Given the description of an element on the screen output the (x, y) to click on. 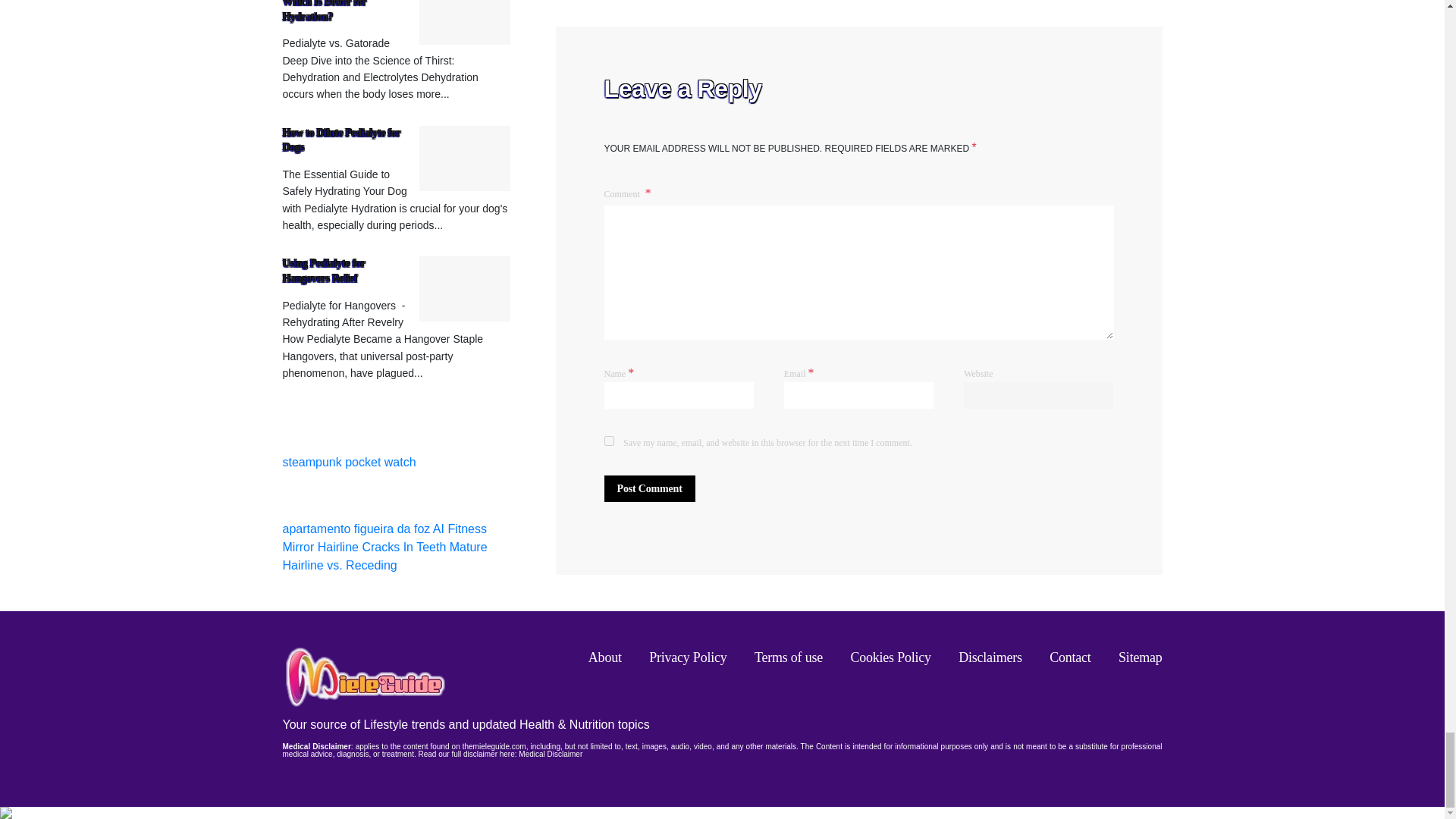
Post Comment (649, 488)
yes (608, 440)
